Given the description of an element on the screen output the (x, y) to click on. 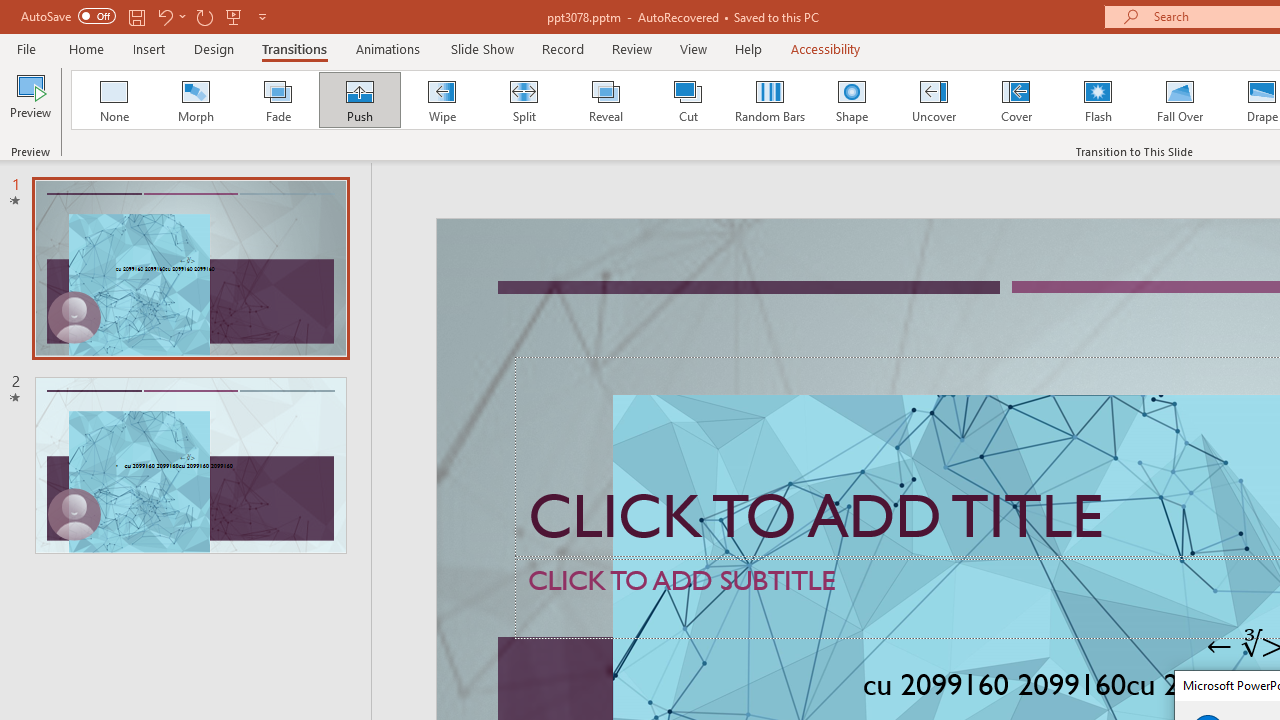
Cover (1016, 100)
Flash (1098, 100)
Wipe (441, 100)
Shape (852, 100)
